Given the description of an element on the screen output the (x, y) to click on. 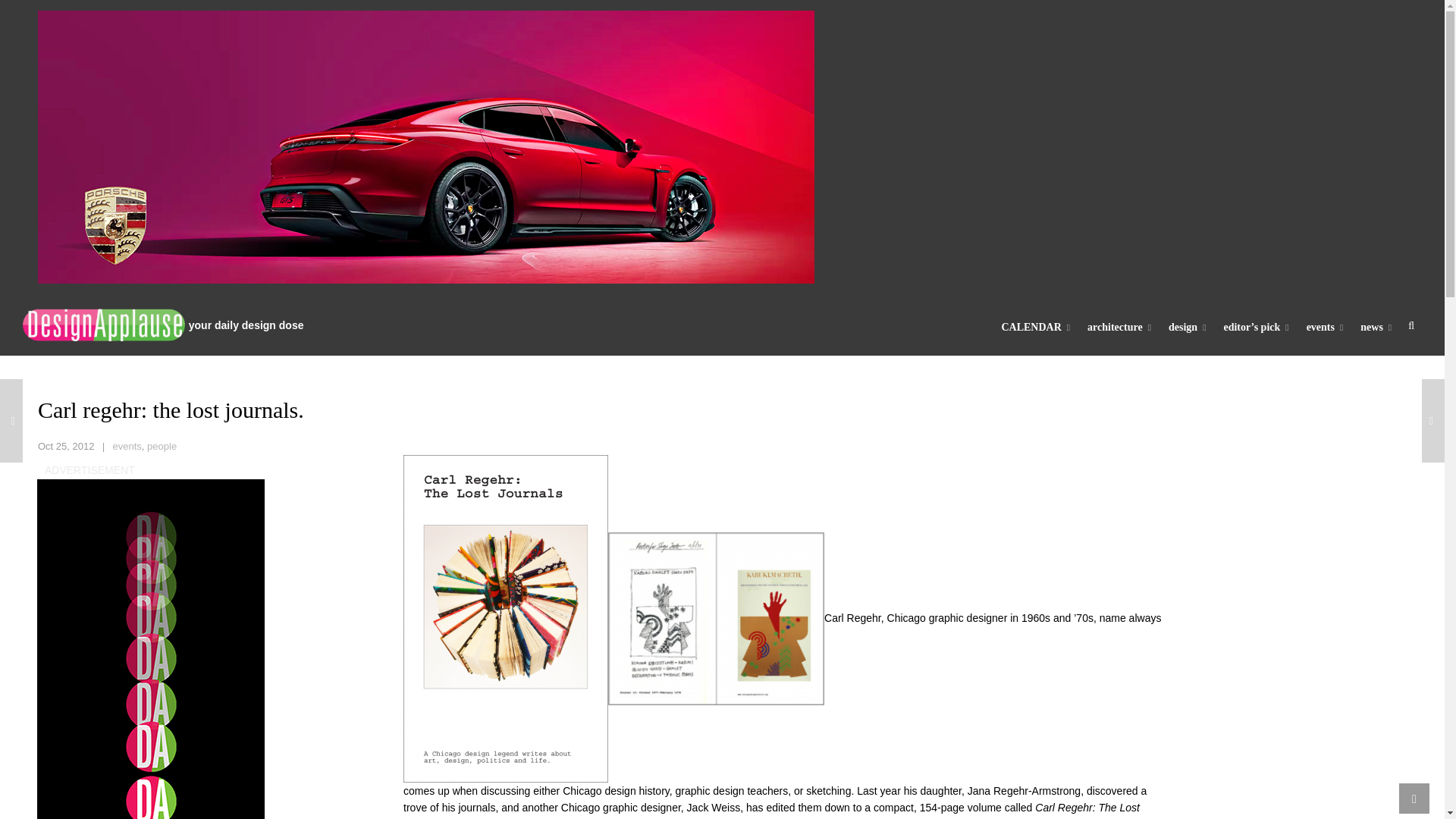
Regehr-Book-Cover1 (505, 618)
regehr-kabuki1 (716, 618)
View all posts in events (127, 446)
View all posts in people (161, 446)
